Given the description of an element on the screen output the (x, y) to click on. 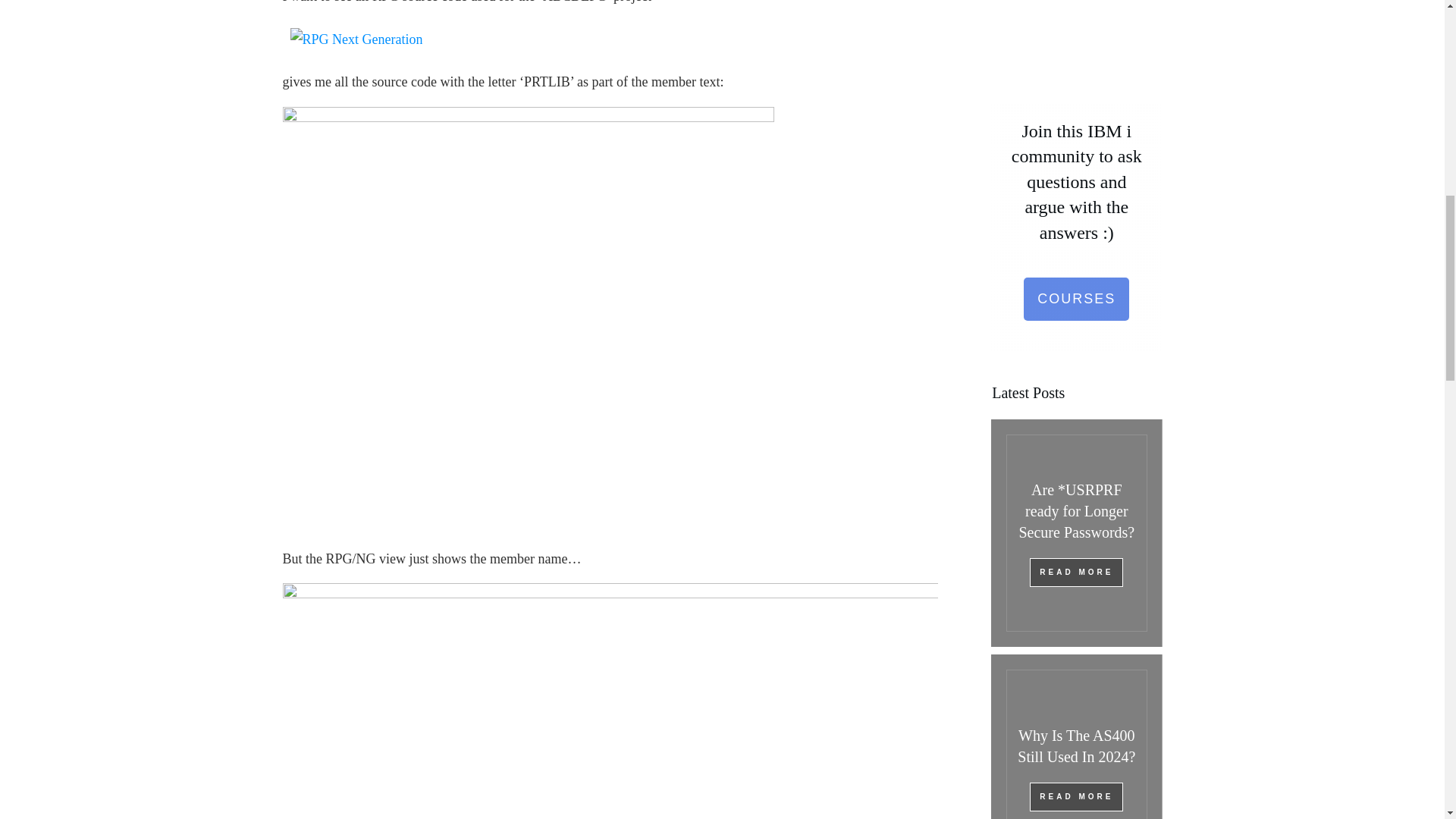
COURSES (1076, 299)
READ MORE (1075, 572)
READ MORE (1075, 796)
Why Is The AS400 Still Used In 2024? (1076, 745)
Why Is The AS400 Still Used In 2024? (1076, 745)
